Given the description of an element on the screen output the (x, y) to click on. 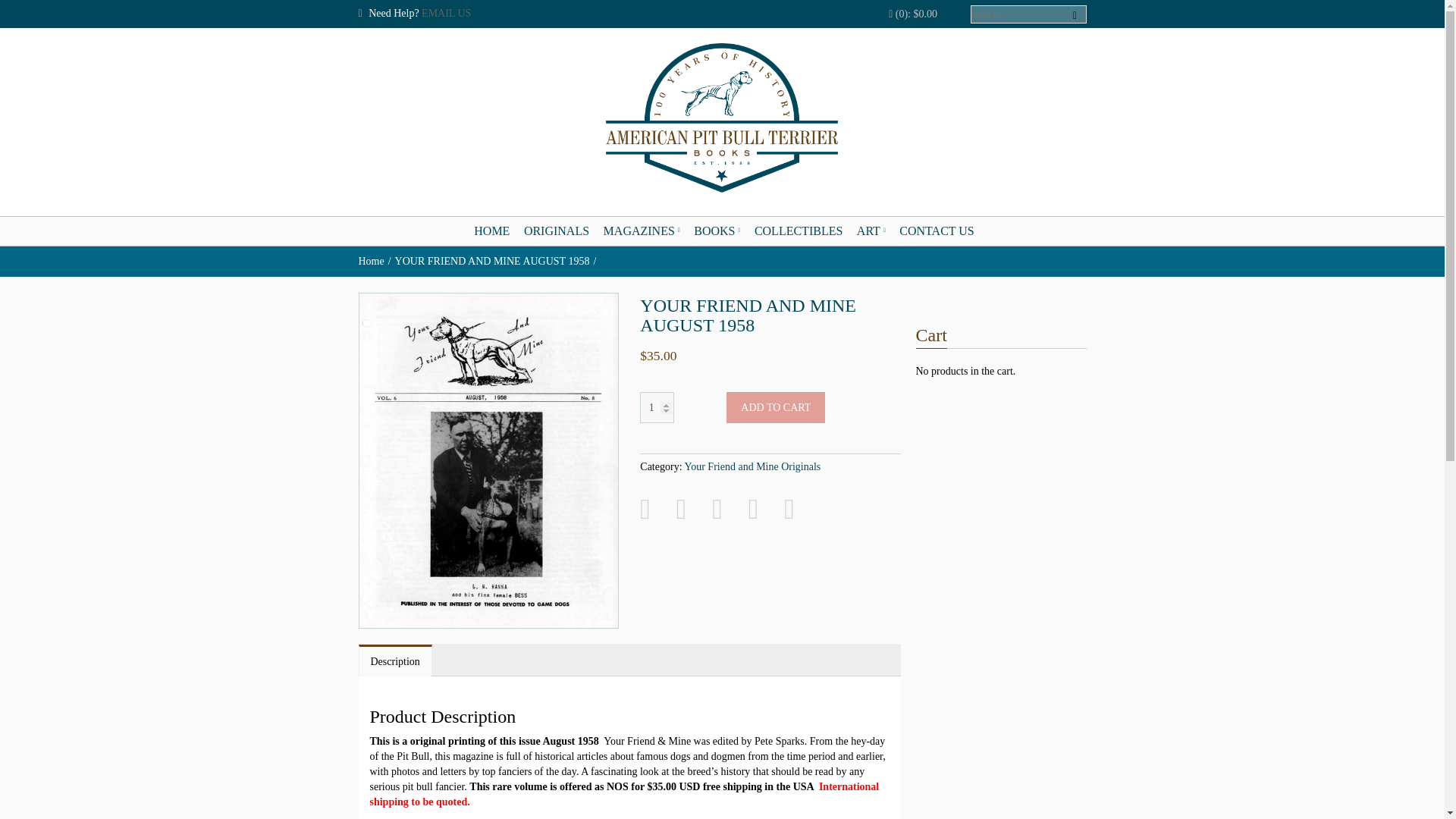
Qty (657, 407)
ADD TO CART (775, 407)
1 (657, 407)
Description (394, 662)
MAGAZINES (641, 231)
ART (871, 231)
ORIGINALS (556, 231)
Your Friend and Mine Originals (752, 466)
HOME (491, 231)
View your shopping cart (912, 13)
Home (376, 260)
APBT Books (721, 117)
CONTACT US (936, 231)
EMAIL US (446, 12)
YOUR FRIEND AND MINE AUGUST 1958 (496, 260)
